Given the description of an element on the screen output the (x, y) to click on. 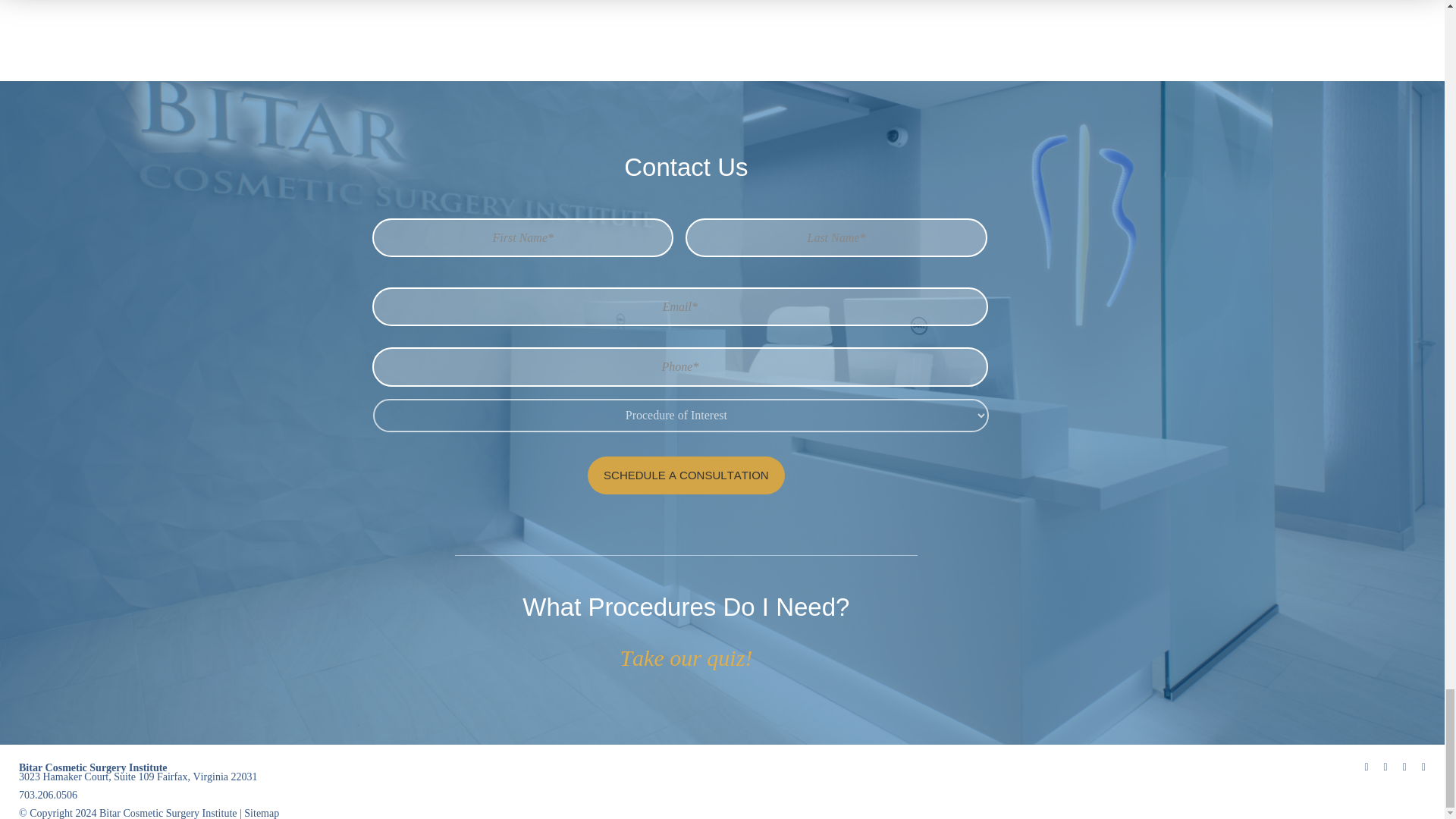
Schedule a Consultation (686, 475)
